Given the description of an element on the screen output the (x, y) to click on. 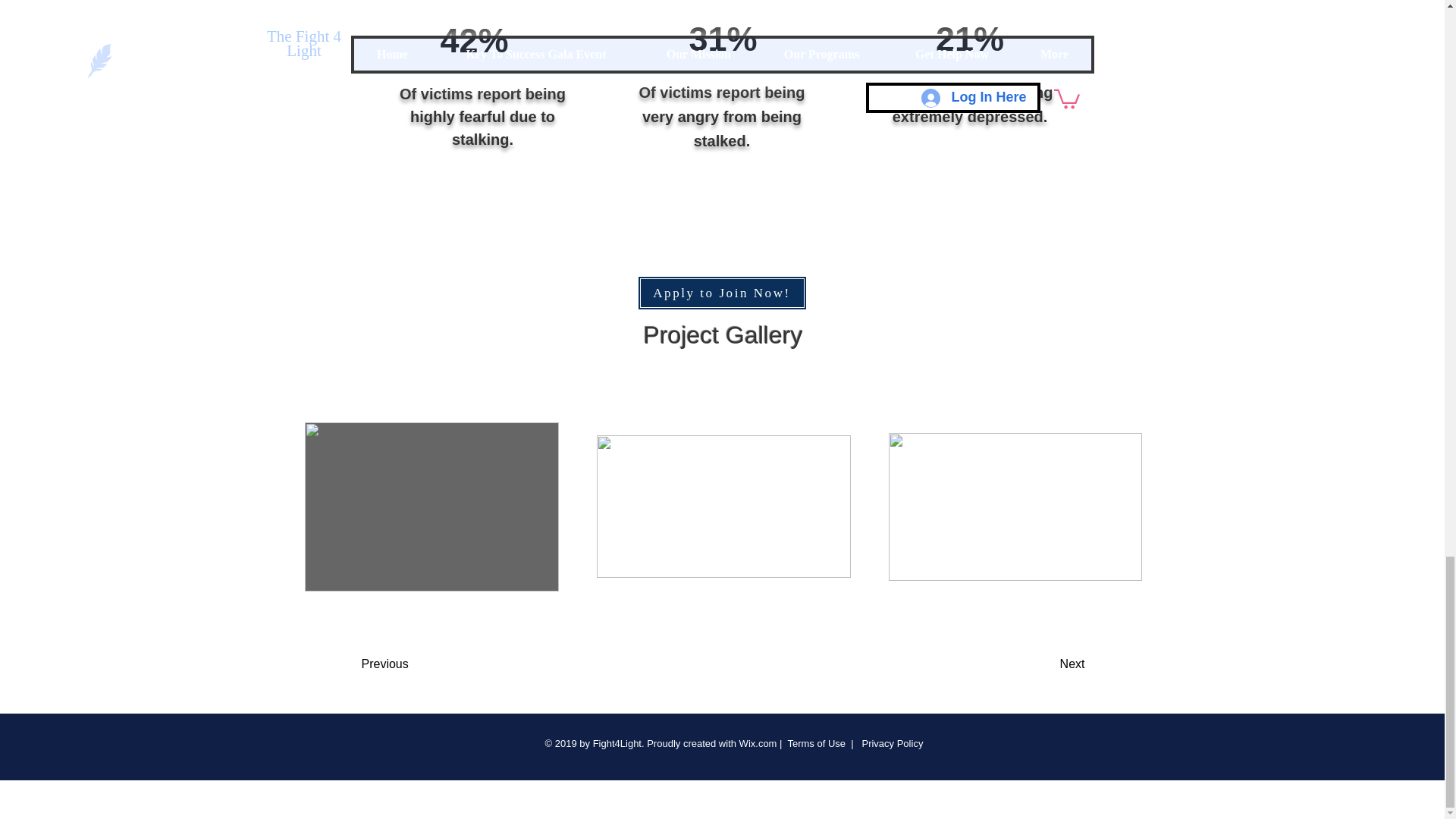
Apply to Join Now! (721, 293)
Terms of Use (816, 743)
depressed.png (956, 10)
Wix.com (758, 743)
Previous (422, 664)
Next (1033, 664)
angry.png (723, 10)
 Privacy Policy (891, 743)
